Given the description of an element on the screen output the (x, y) to click on. 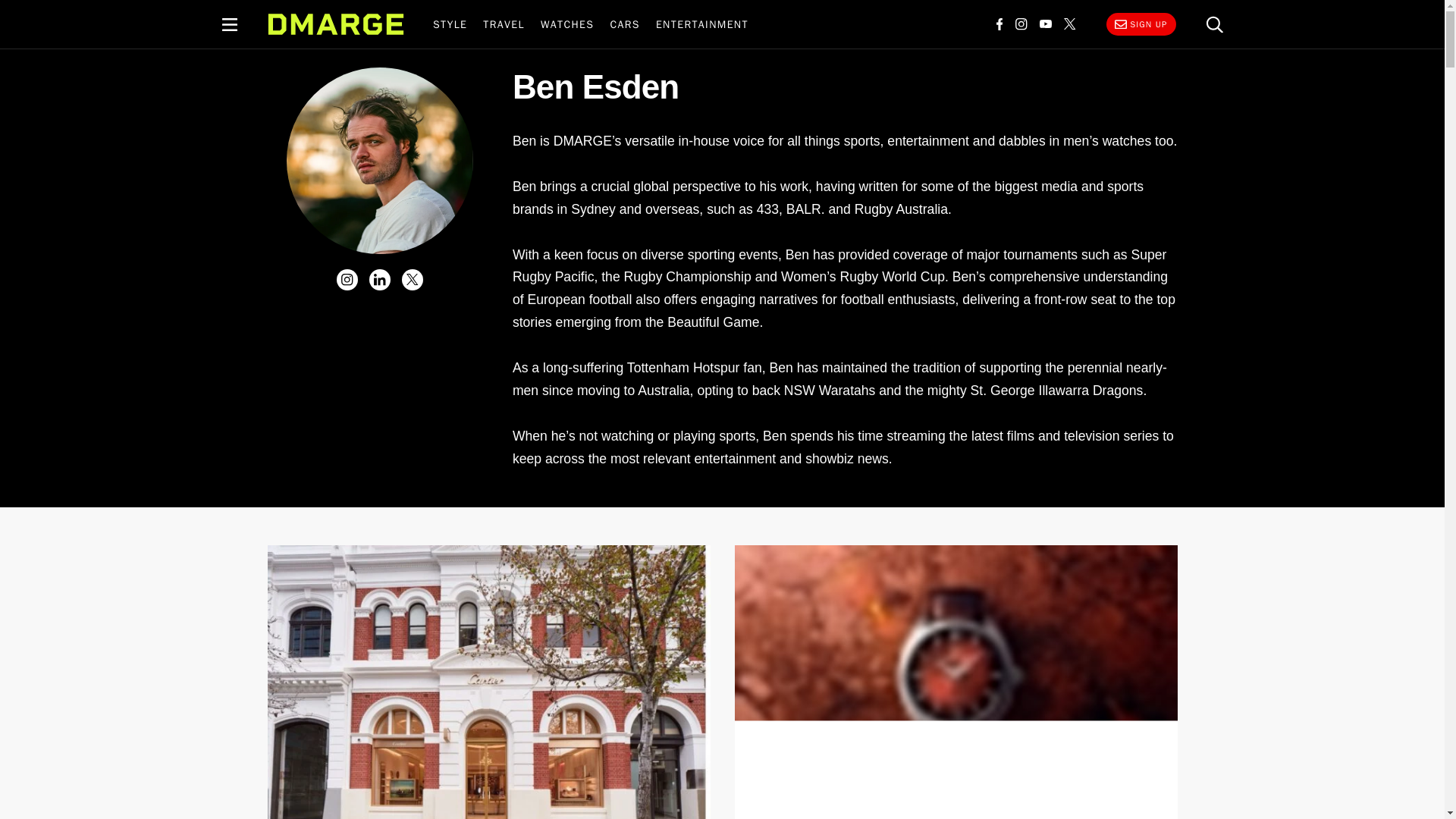
Newsletter Signup (1139, 24)
SIGN UP (1139, 24)
TRAVEL (504, 24)
STYLE (449, 24)
CARS (624, 24)
WATCHES (567, 24)
ENTERTAINMENT (701, 24)
Visit us on YouTube (1044, 23)
Visit us on Instagram (1020, 24)
